Given the description of an element on the screen output the (x, y) to click on. 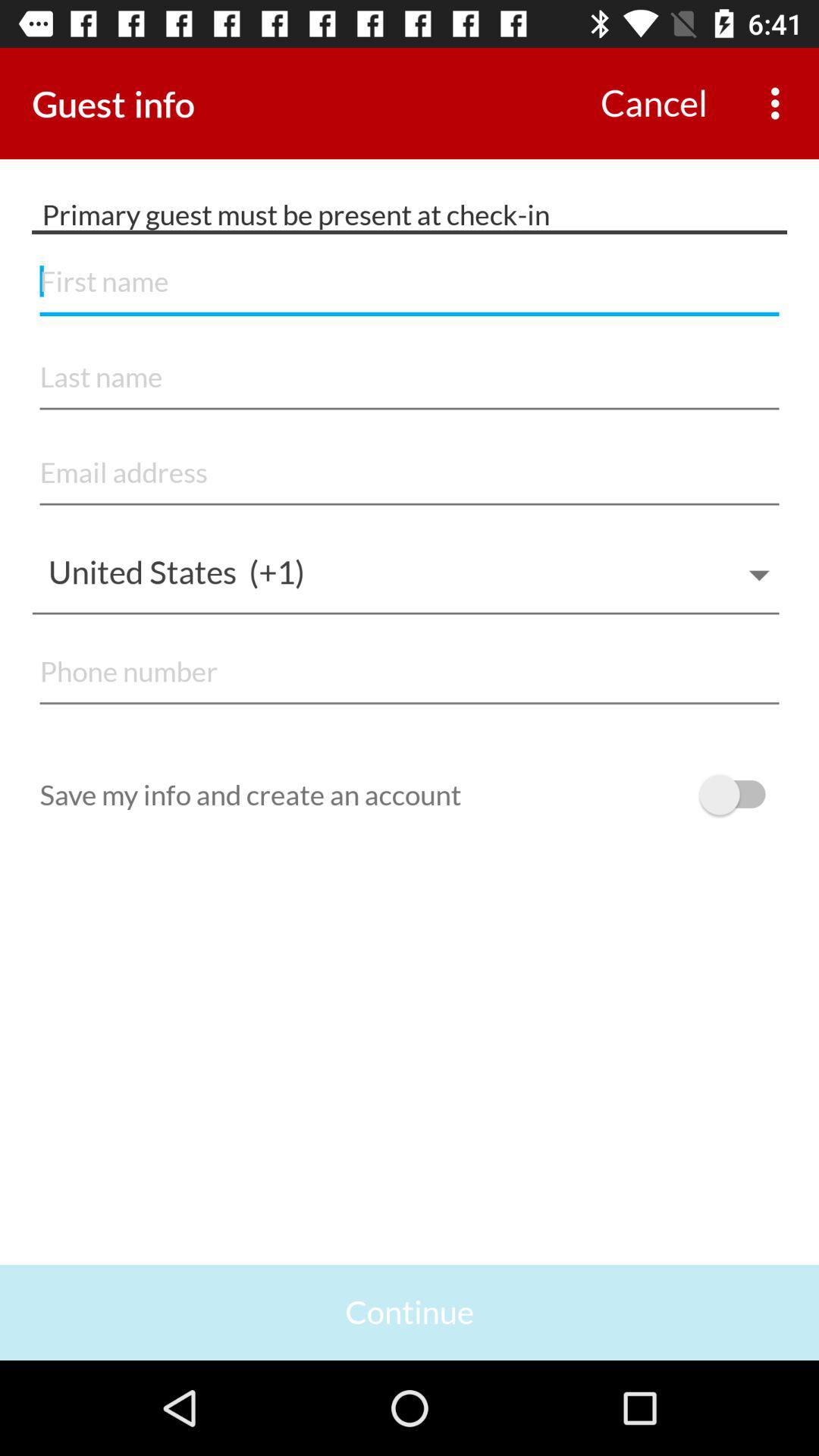
enter your first name (409, 281)
